Given the description of an element on the screen output the (x, y) to click on. 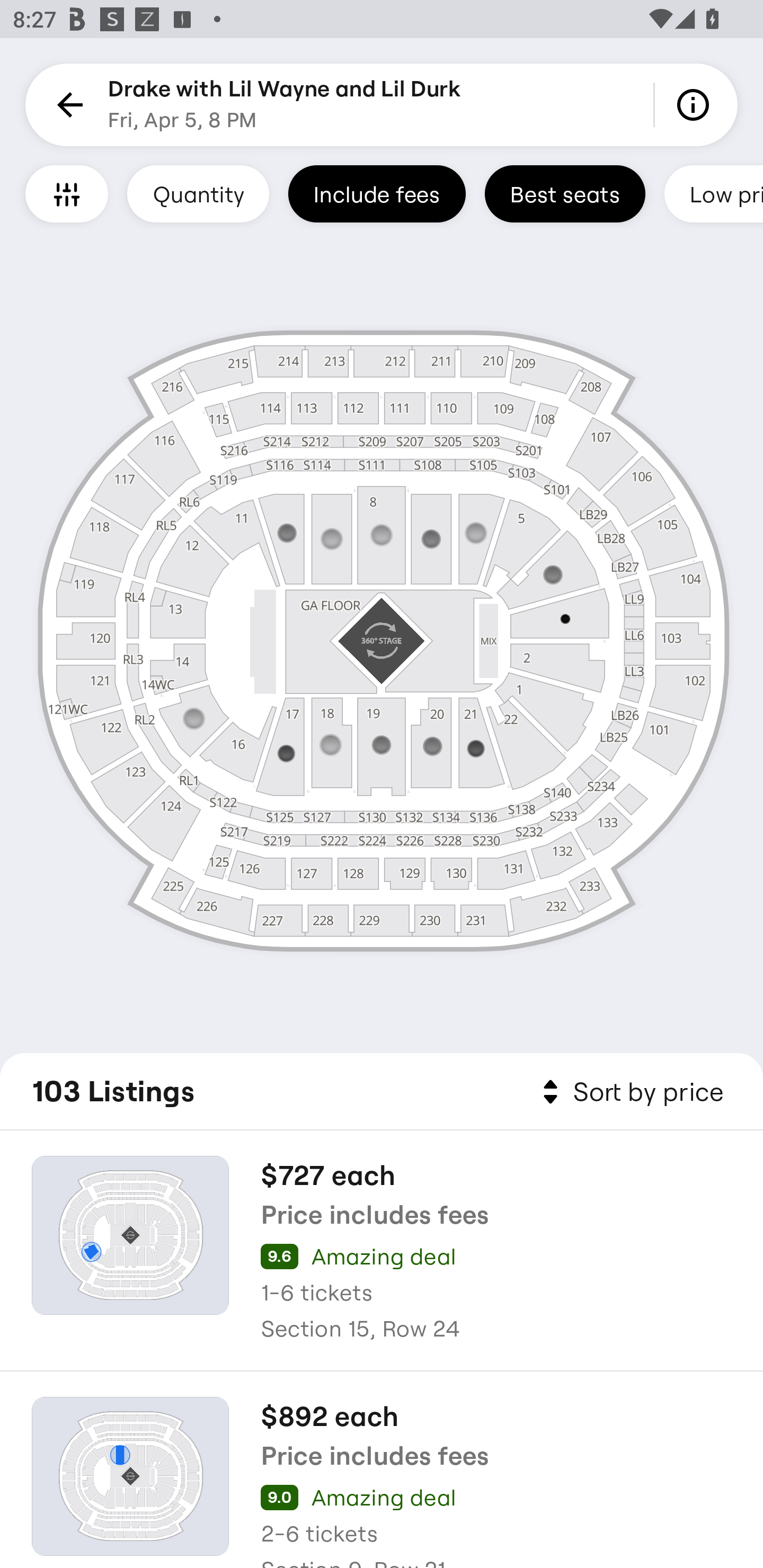
Back (66, 104)
Drake with Lil Wayne and Lil Durk Fri, Apr 5, 8 PM (284, 104)
Info (695, 104)
Filters and Accessible Seating (66, 193)
Quantity (198, 193)
Include fees (376, 193)
Best seats (564, 193)
Sort by price (629, 1091)
